Given the description of an element on the screen output the (x, y) to click on. 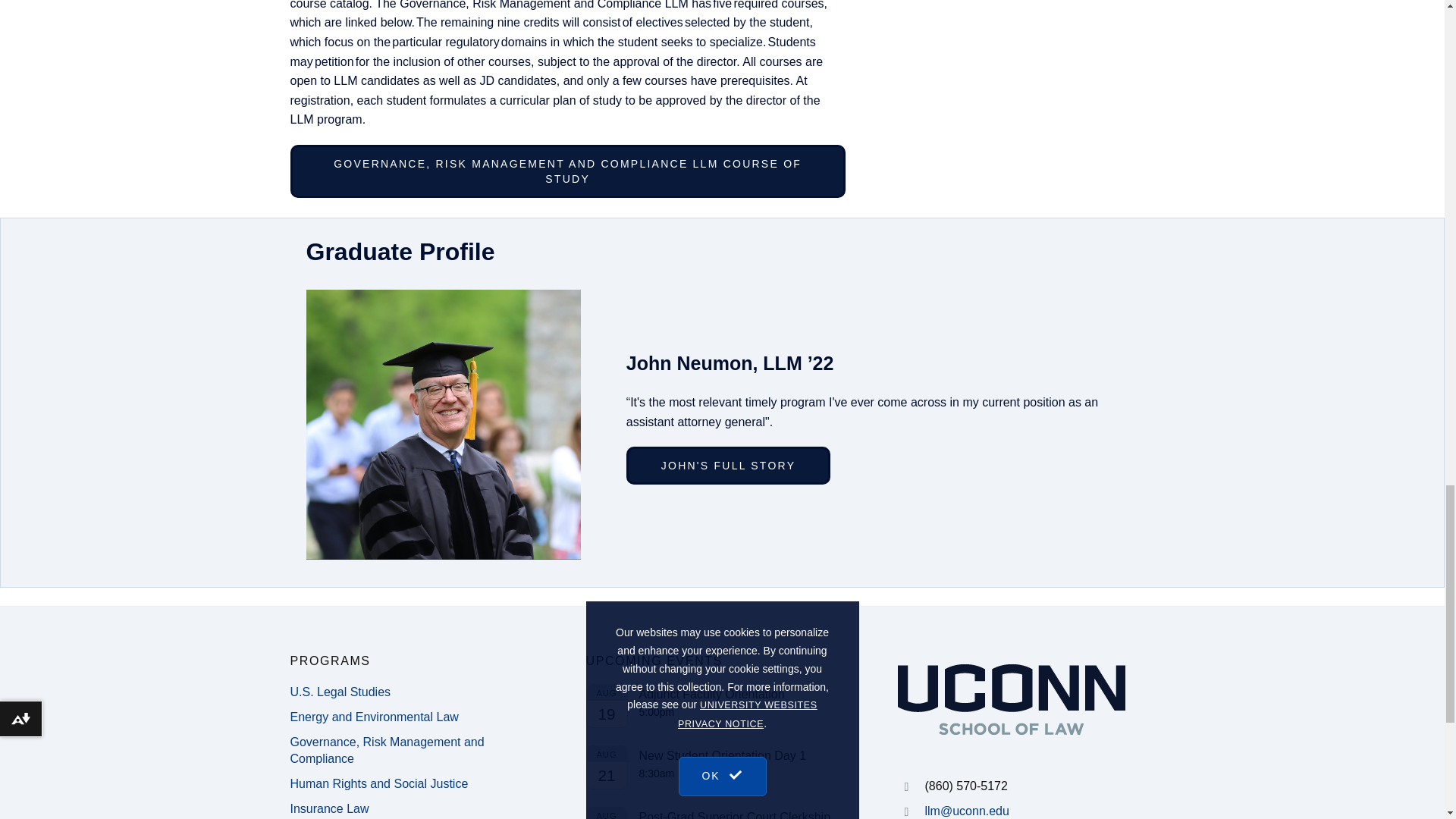
August (606, 692)
August (606, 754)
August (606, 813)
